Given the description of an element on the screen output the (x, y) to click on. 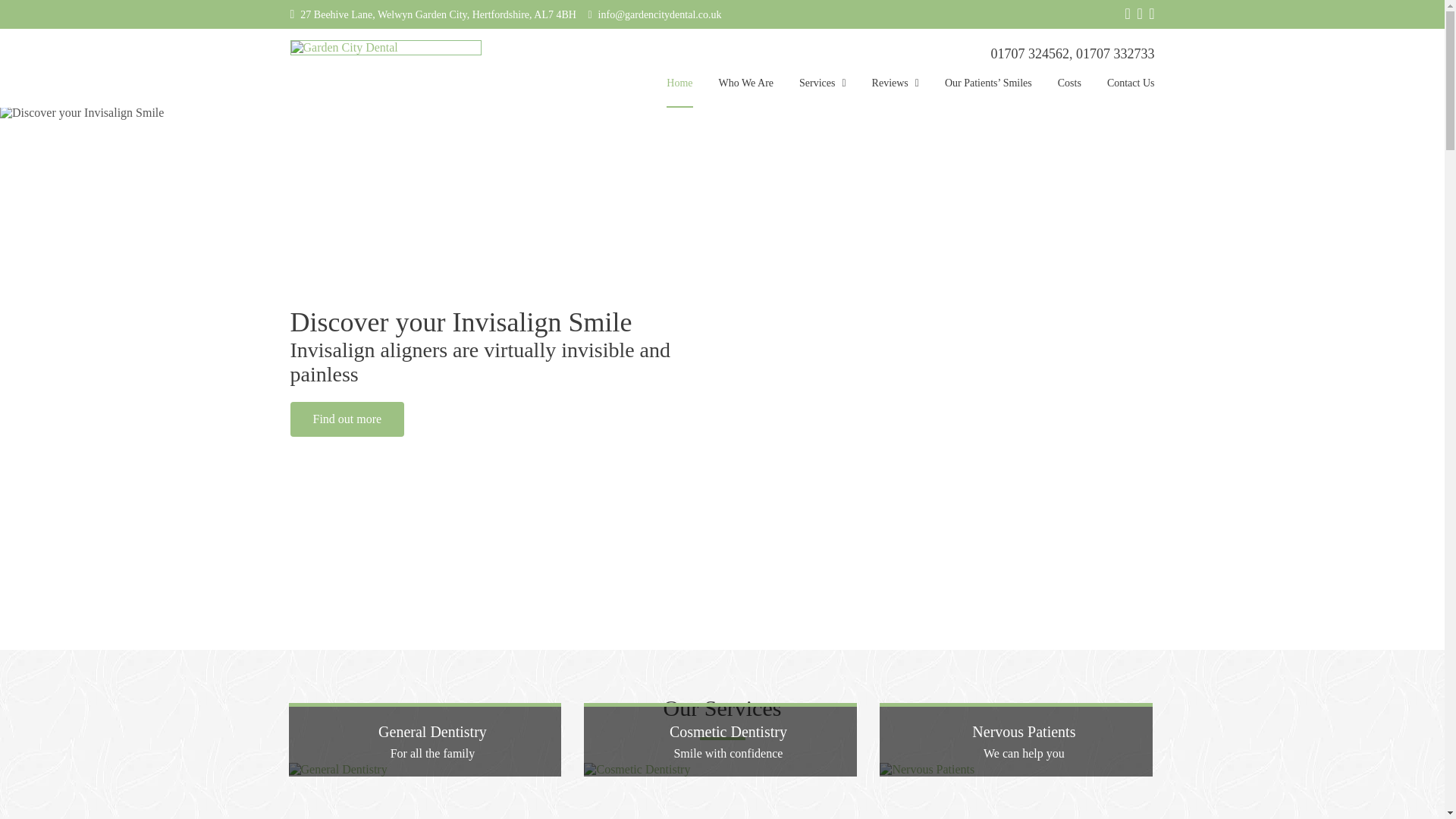
01707 332733 (1114, 53)
Garden City Dental (384, 47)
Services (822, 91)
01707 324562 (1029, 53)
Find out more (346, 419)
Who We Are (746, 91)
Reviews (895, 91)
Contact Us (1130, 91)
